Given the description of an element on the screen output the (x, y) to click on. 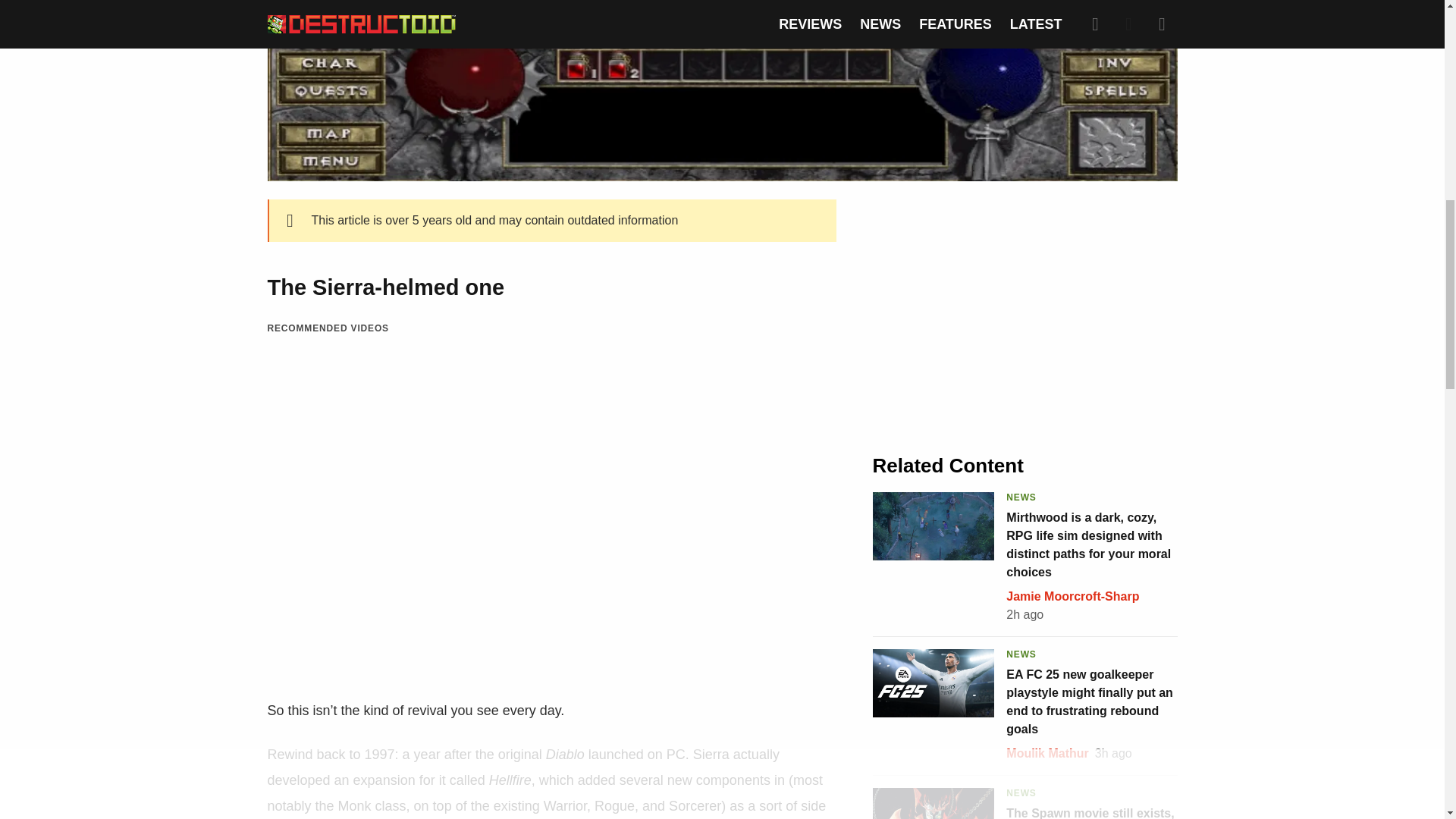
3rd party ad content (1024, 312)
